Given the description of an element on the screen output the (x, y) to click on. 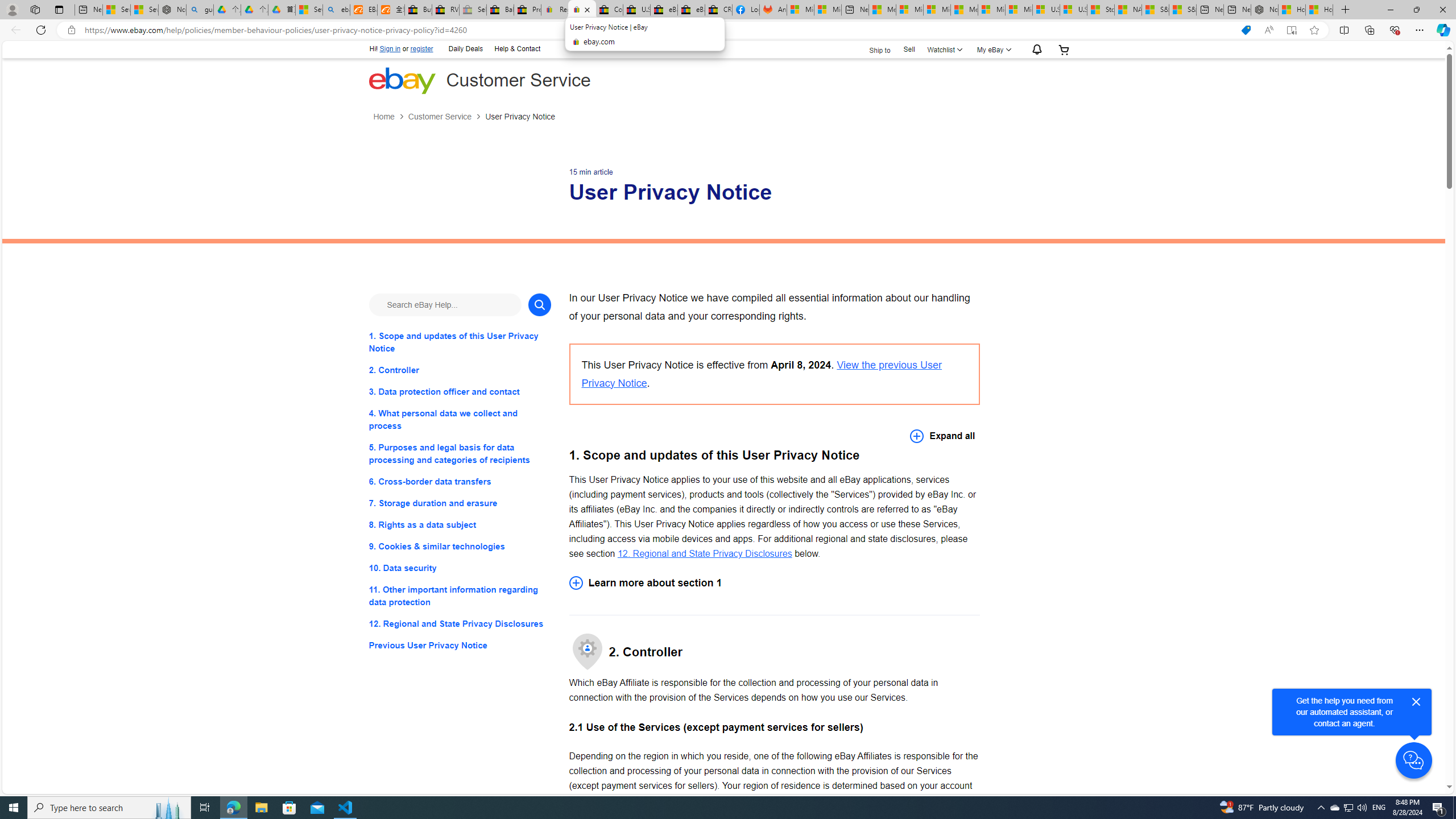
Sign in (390, 49)
11. Other important information regarding data protection (459, 596)
eBay Inc. Reports Third Quarter 2023 Results (691, 9)
9. Cookies & similar technologies (459, 546)
